Given the description of an element on the screen output the (x, y) to click on. 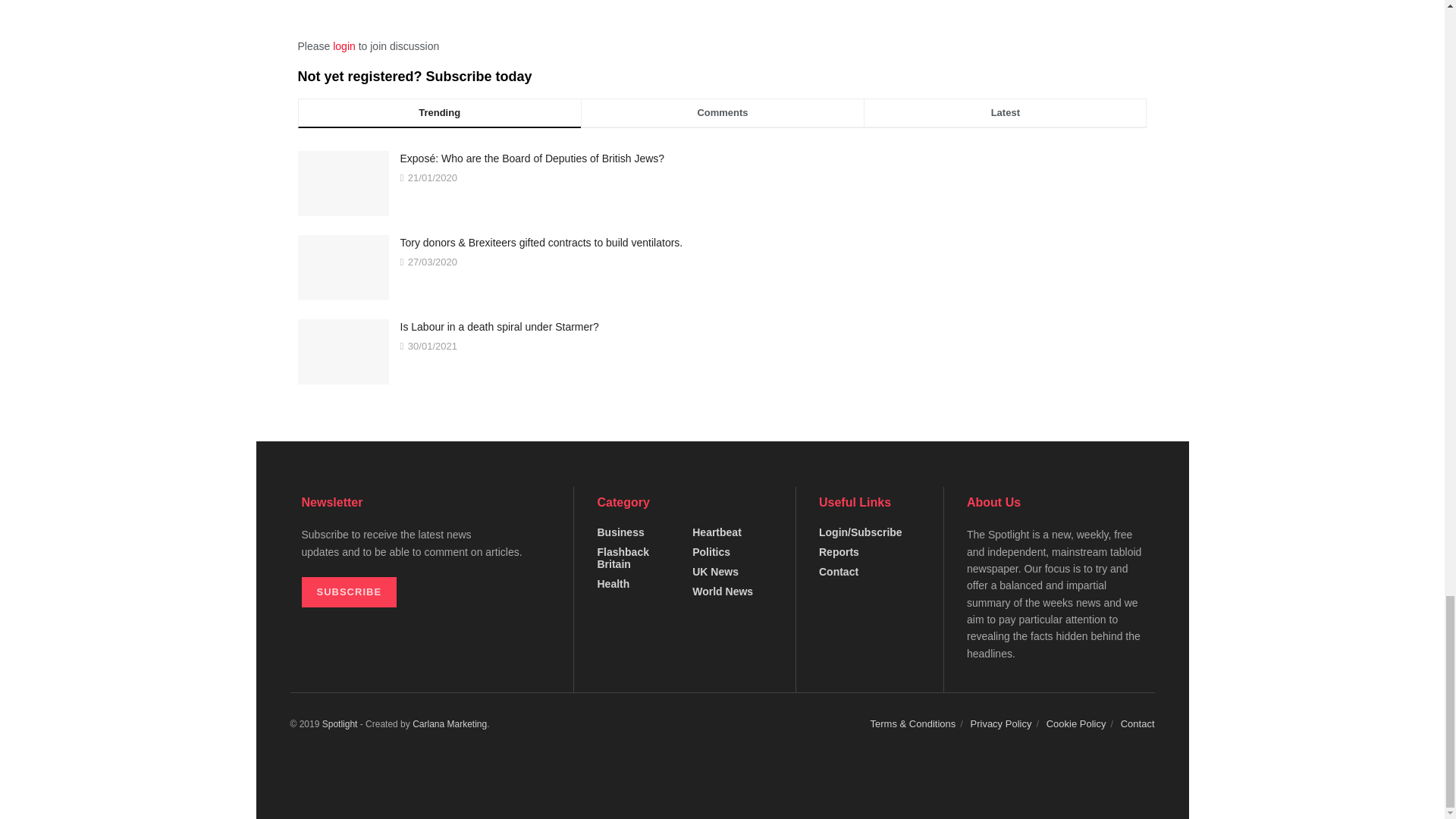
Carlana Marketing (449, 724)
Spot Light News (339, 724)
Starmer Rejects FoM and Re Joining EU (342, 345)
